Given the description of an element on the screen output the (x, y) to click on. 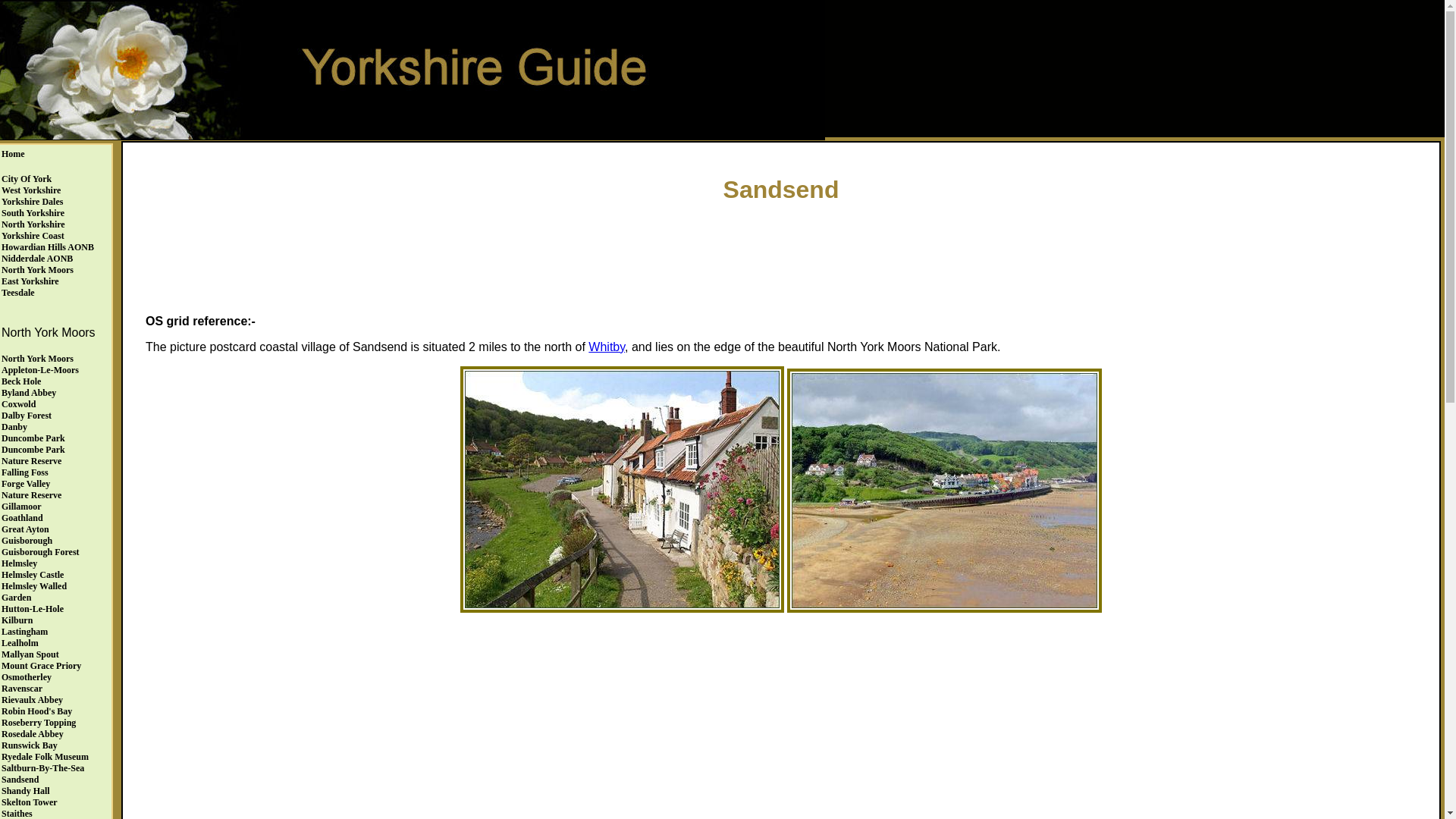
Falling Foss (24, 471)
Yorkshire Dales (31, 201)
Yorkshire Coast (32, 235)
Helmsley (19, 562)
Guisborough (26, 540)
South Yorkshire (32, 213)
Advertisement (781, 254)
Home (12, 153)
Goathland (22, 517)
Guisborough Forest (40, 552)
